Given the description of an element on the screen output the (x, y) to click on. 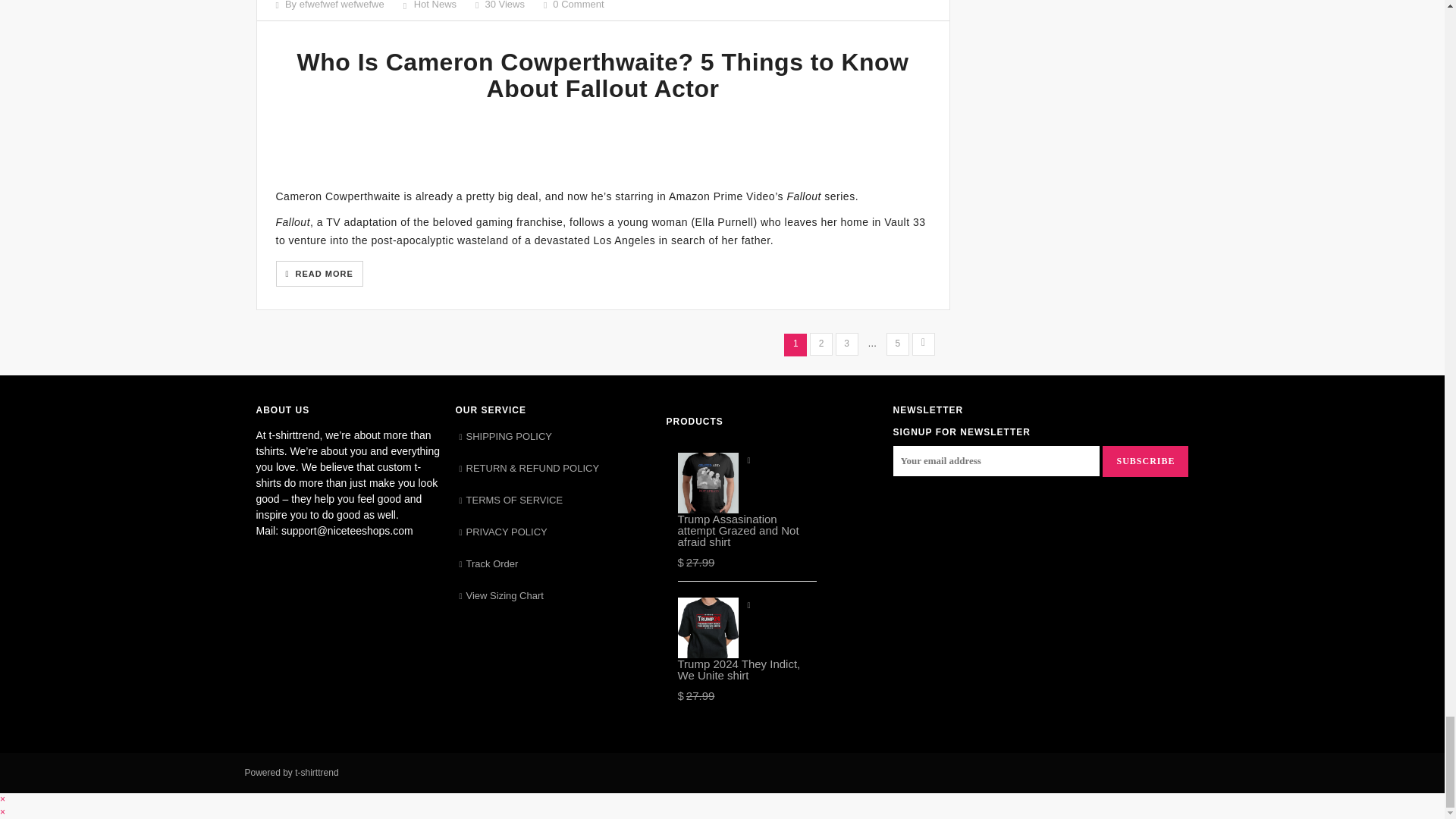
Subscribe (1145, 460)
